Given the description of an element on the screen output the (x, y) to click on. 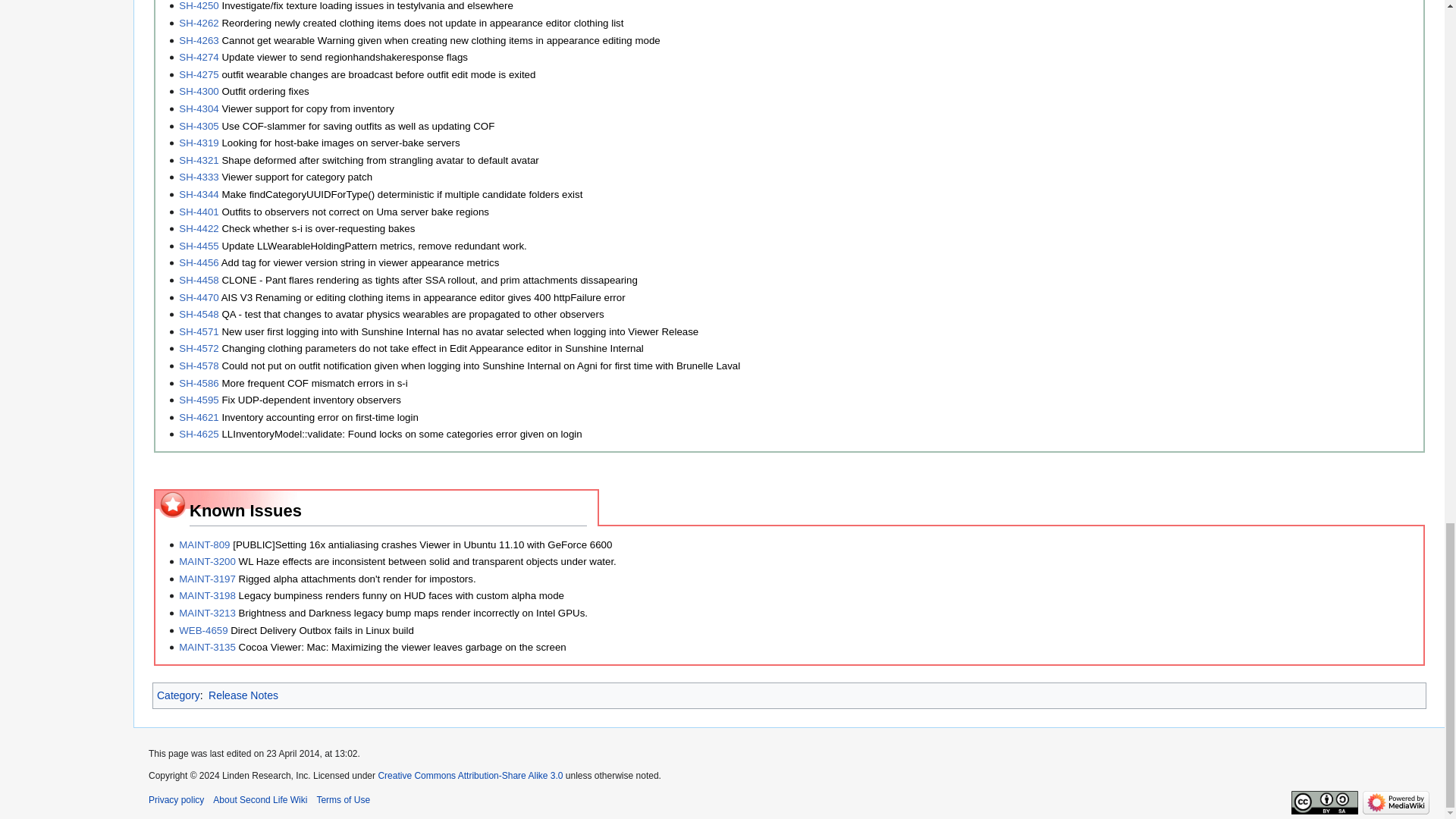
Special:Categories (178, 695)
Category:Release Notes (243, 695)
